Given the description of an element on the screen output the (x, y) to click on. 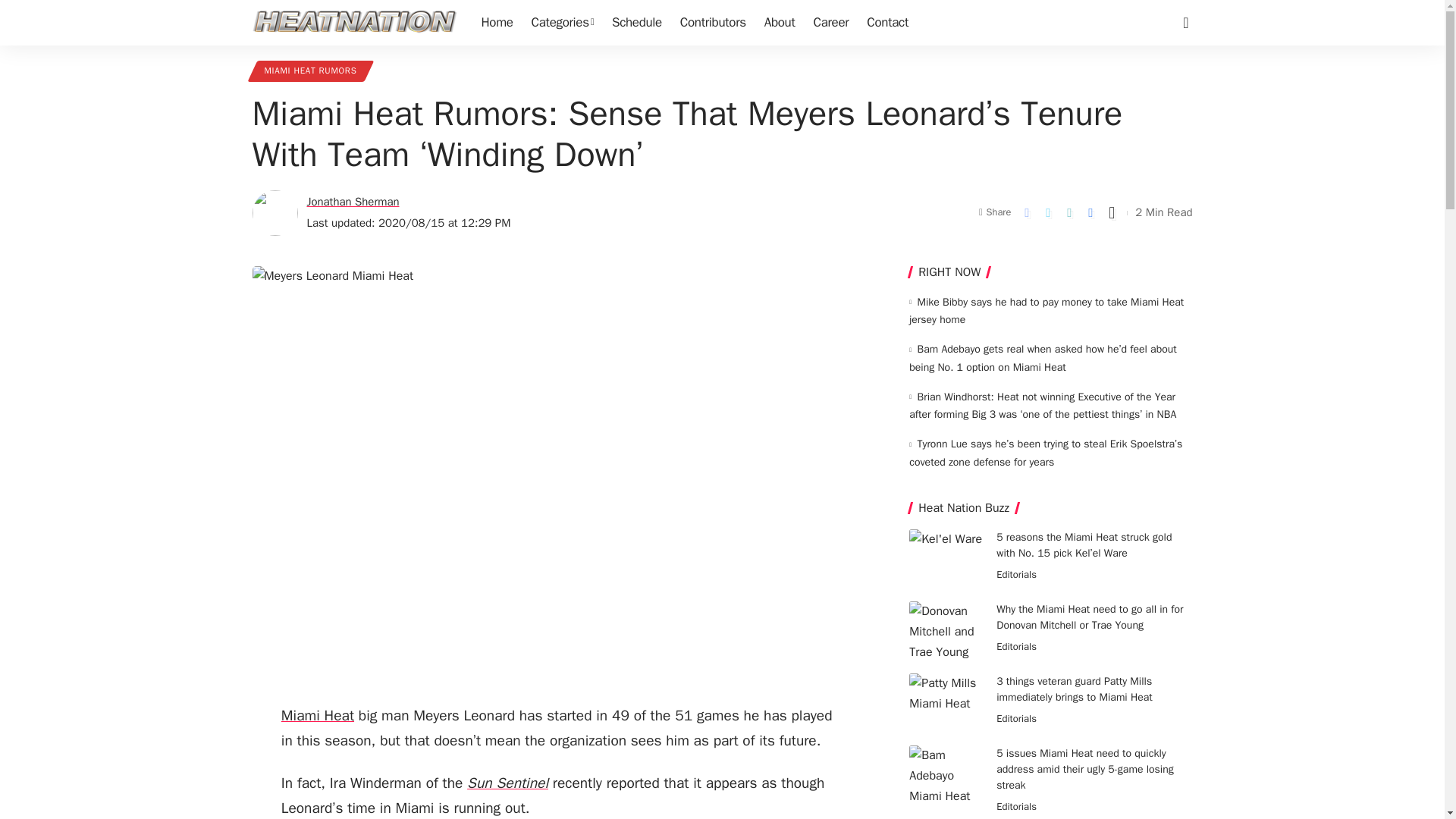
Career (830, 22)
MIAMI HEAT RUMORS (309, 70)
Contributors (713, 22)
Miami Heat (317, 715)
About (780, 22)
Jonathan Sherman (351, 201)
Categories (562, 22)
